Given the description of an element on the screen output the (x, y) to click on. 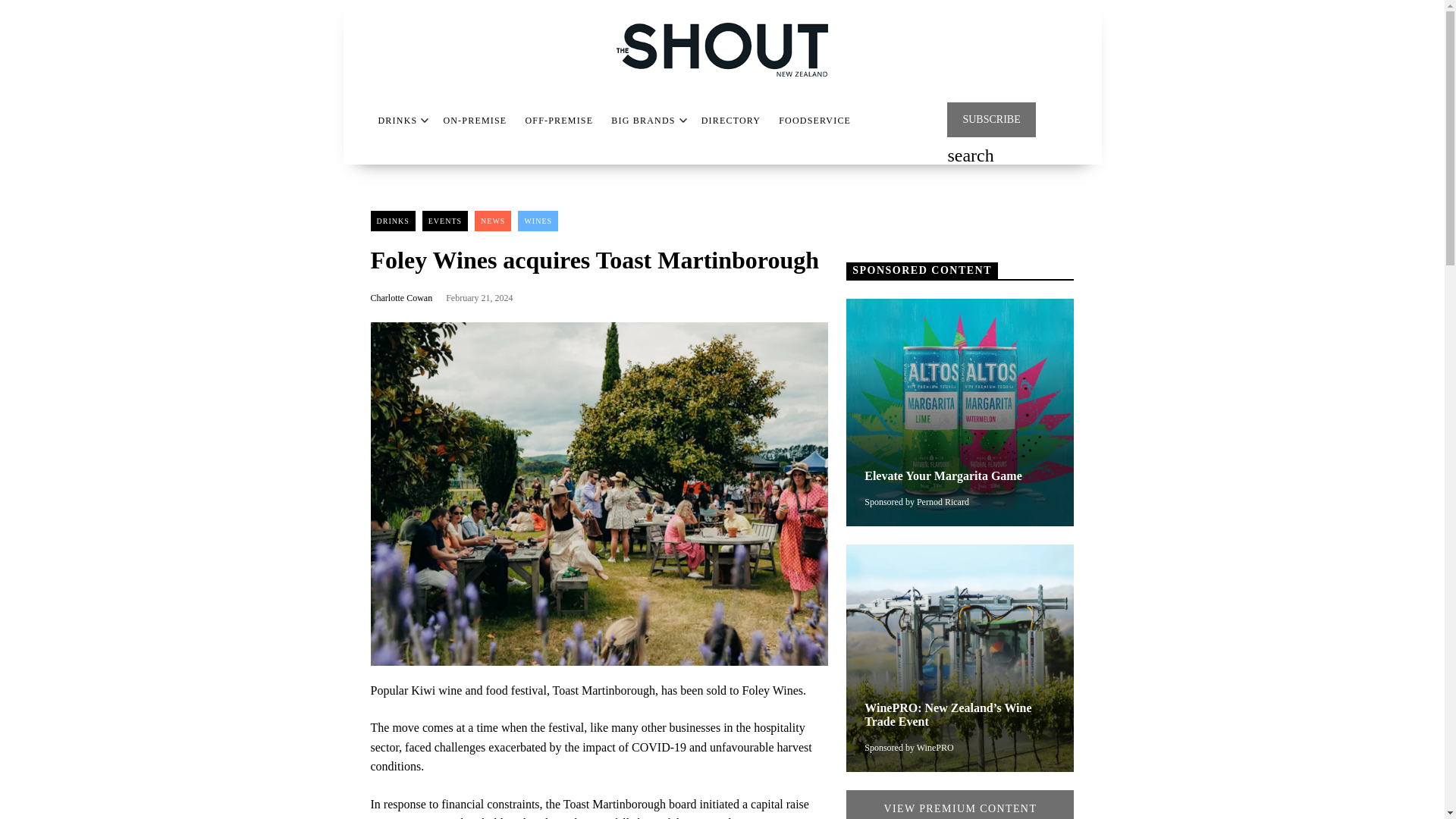
OFF-PREMISE (558, 120)
DRINKS (396, 120)
FOODSERVICE (814, 120)
ON-PREMISE (474, 120)
SUBSCRIBE (991, 119)
search (969, 156)
BIG BRANDS (643, 120)
DIRECTORY (731, 120)
